Given the description of an element on the screen output the (x, y) to click on. 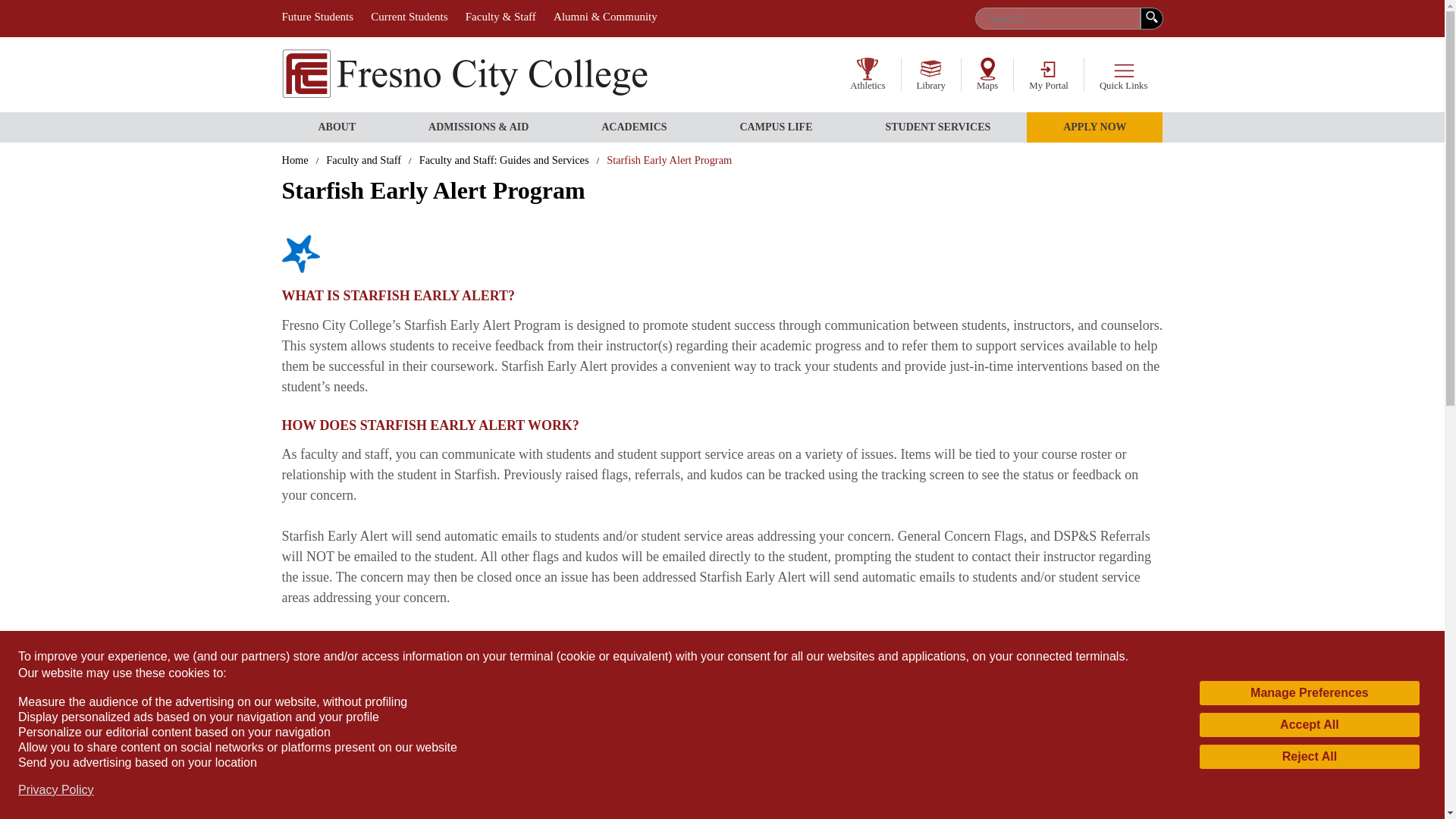
ABOUT (337, 127)
Athletics (866, 74)
Current Students (408, 16)
Manage Preferences (1309, 692)
Privacy Policy (55, 789)
Accept All (1309, 724)
Reject All (1309, 756)
My Portal (1048, 74)
searchfield (1057, 18)
Library (930, 74)
Quick Links (1123, 74)
Maps (986, 74)
Future Students (317, 16)
